Given the description of an element on the screen output the (x, y) to click on. 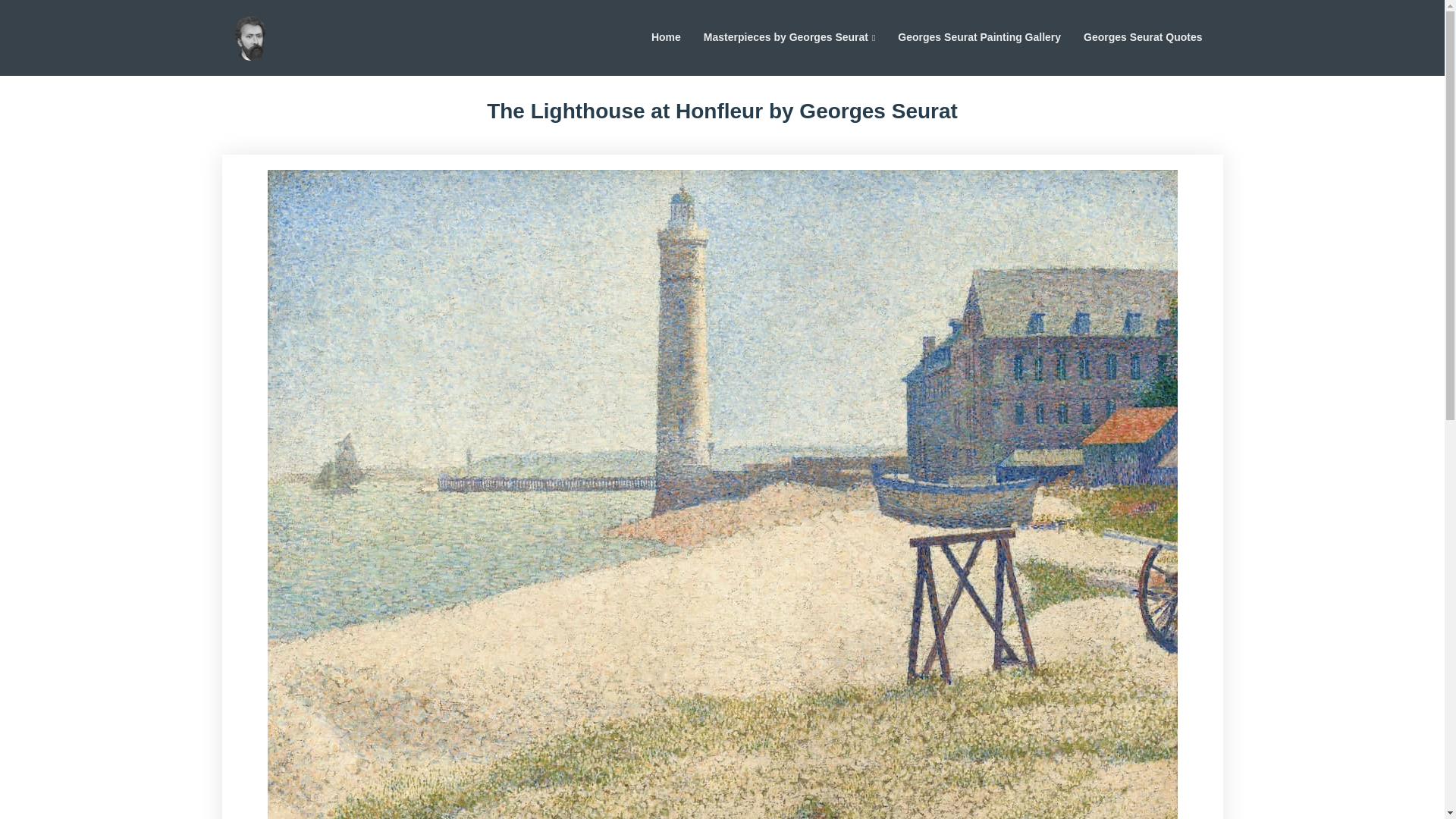
Home (665, 37)
Georges Seurat Painting Gallery (978, 37)
Home (665, 37)
Georges Seurat Quotes (1142, 37)
Masterpieces by Georges Seurat (789, 37)
Georges Seurat Painting Gallery (978, 37)
Georges Seurat Quotes (1142, 37)
